Given the description of an element on the screen output the (x, y) to click on. 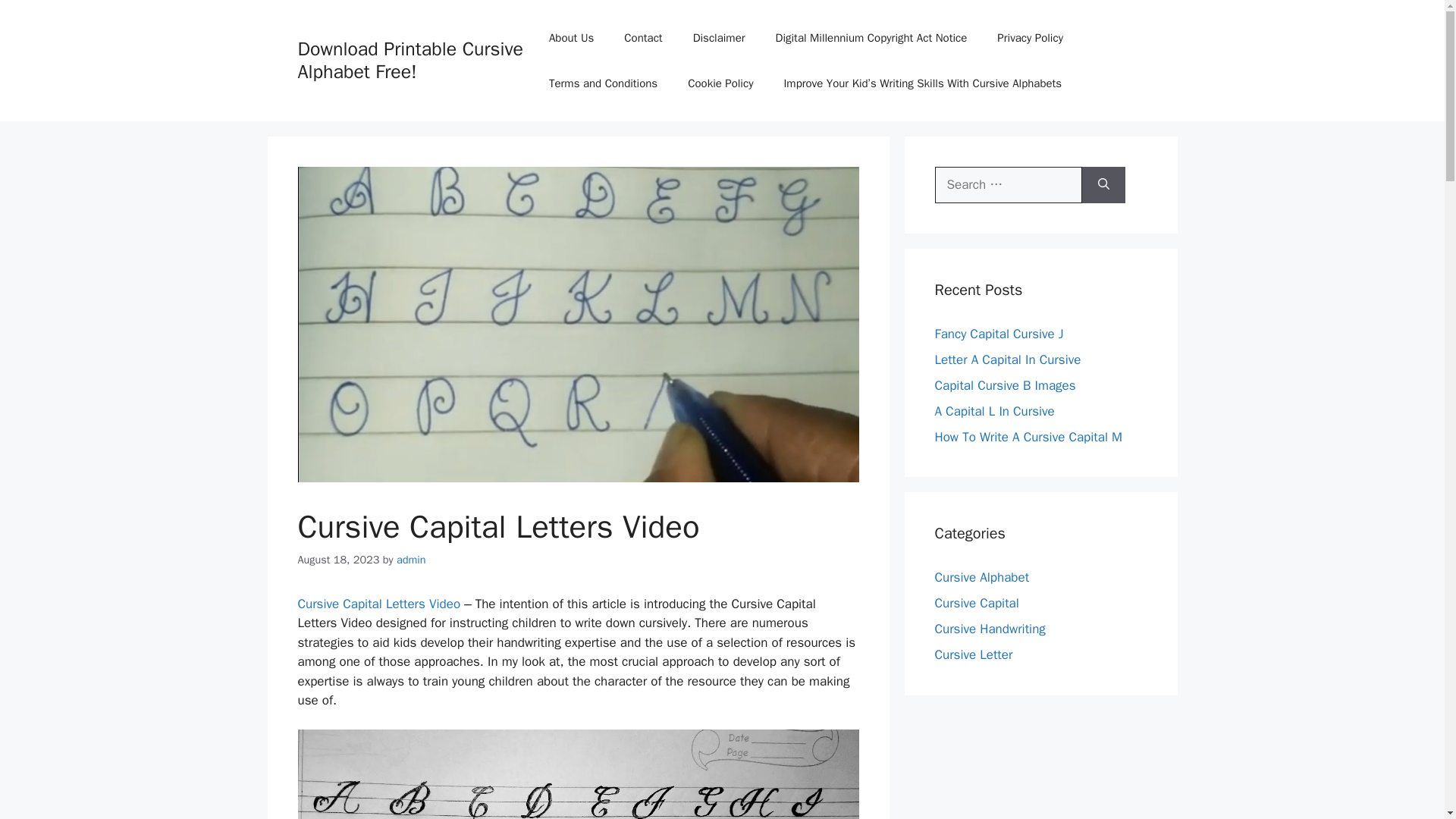
Cursive Alphabet (981, 577)
About Us (571, 37)
Fancy Capital Cursive J (998, 333)
View all posts by admin (411, 559)
Cursive Capital Letters Video (378, 603)
Contact (642, 37)
Cookie Policy (720, 83)
How To Write A Cursive Capital M (1028, 437)
Disclaimer (719, 37)
Search for: (1007, 185)
